Given the description of an element on the screen output the (x, y) to click on. 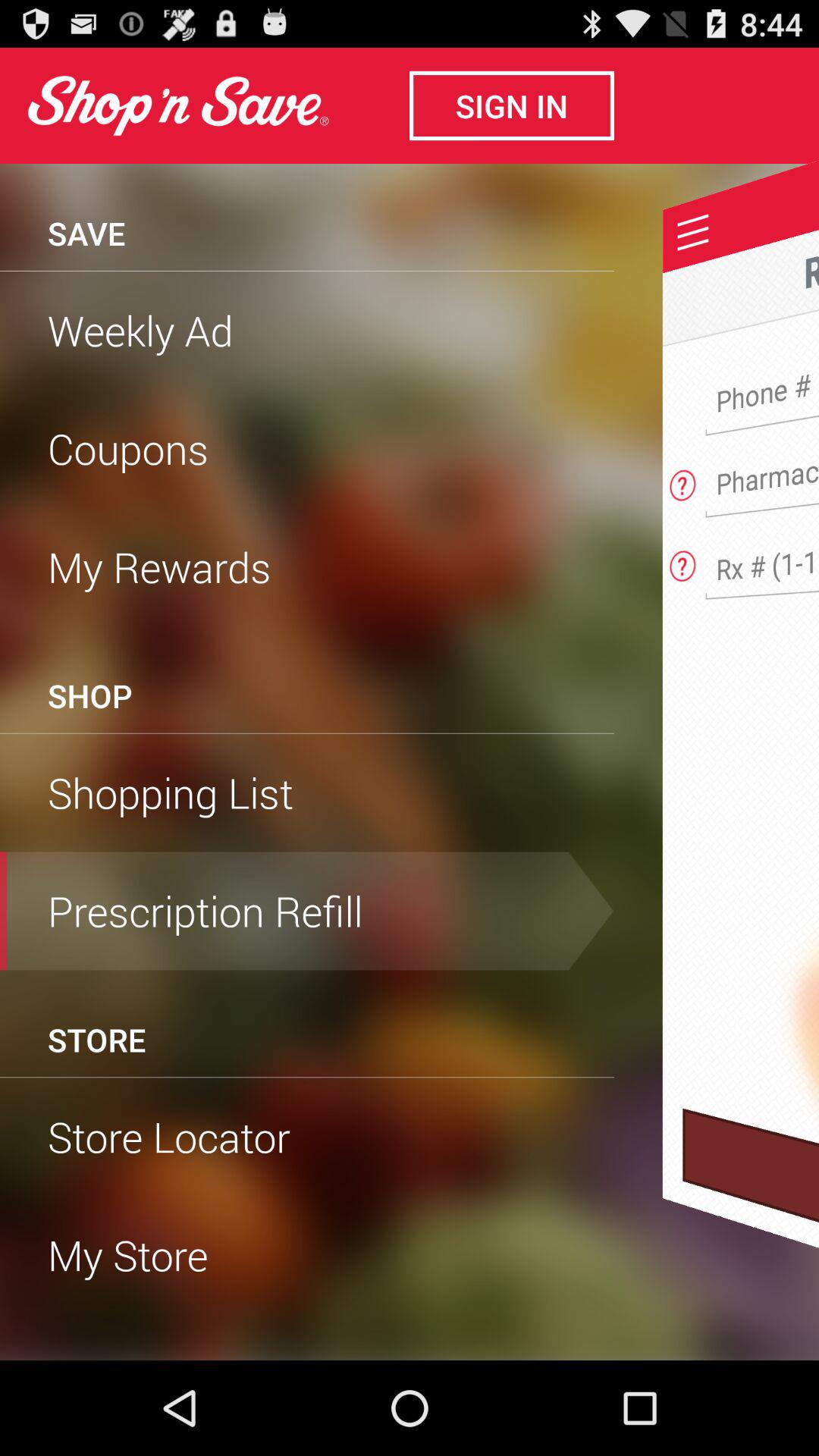
click the item next to the store locator icon (750, 1234)
